Given the description of an element on the screen output the (x, y) to click on. 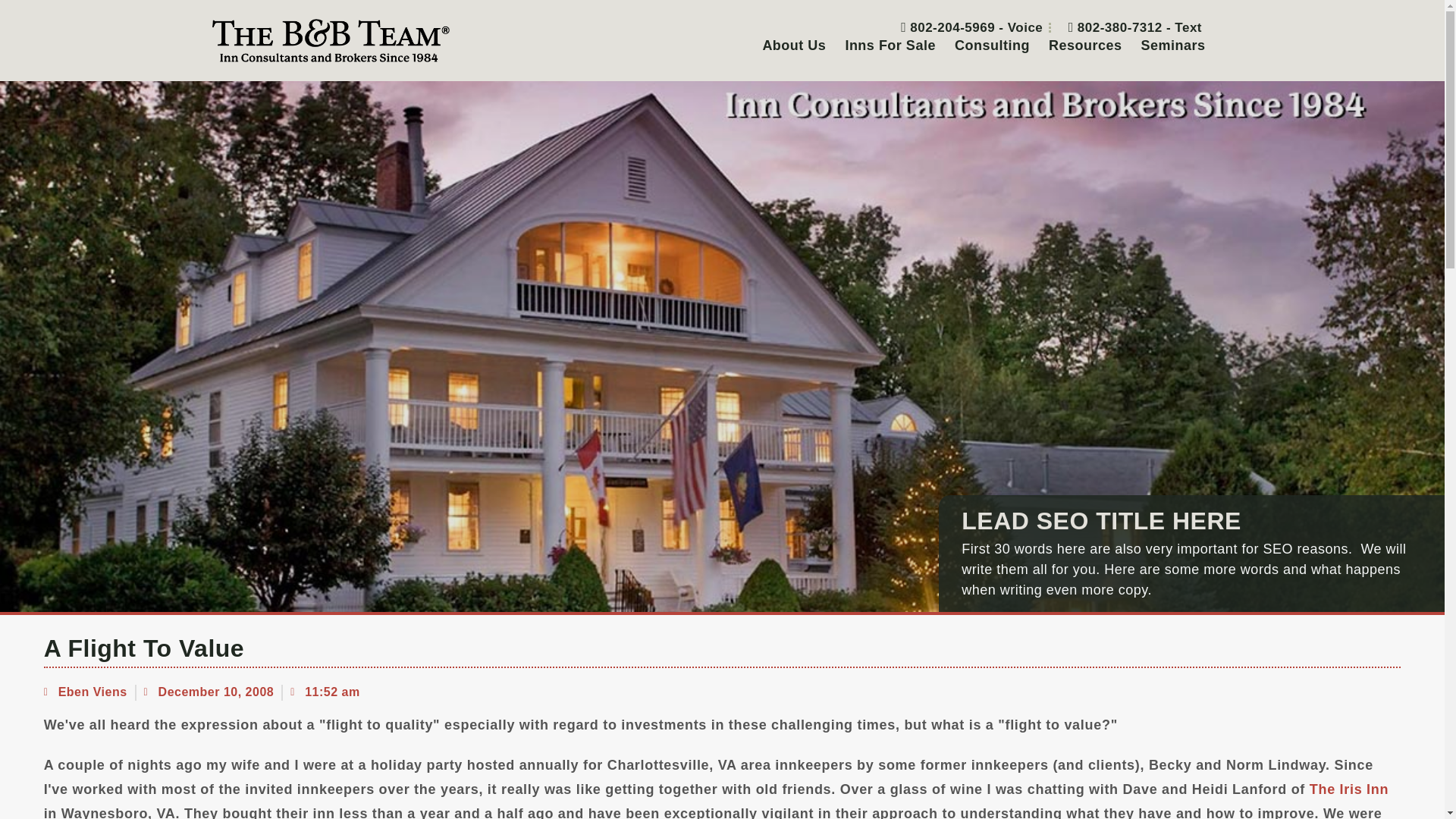
802-204-5969 - Voice (966, 27)
Seminars (1172, 45)
Resources (1085, 45)
802-380-7312 - Text (1129, 27)
Inns For Sale (890, 45)
About Us (793, 45)
Consulting (991, 45)
